Given the description of an element on the screen output the (x, y) to click on. 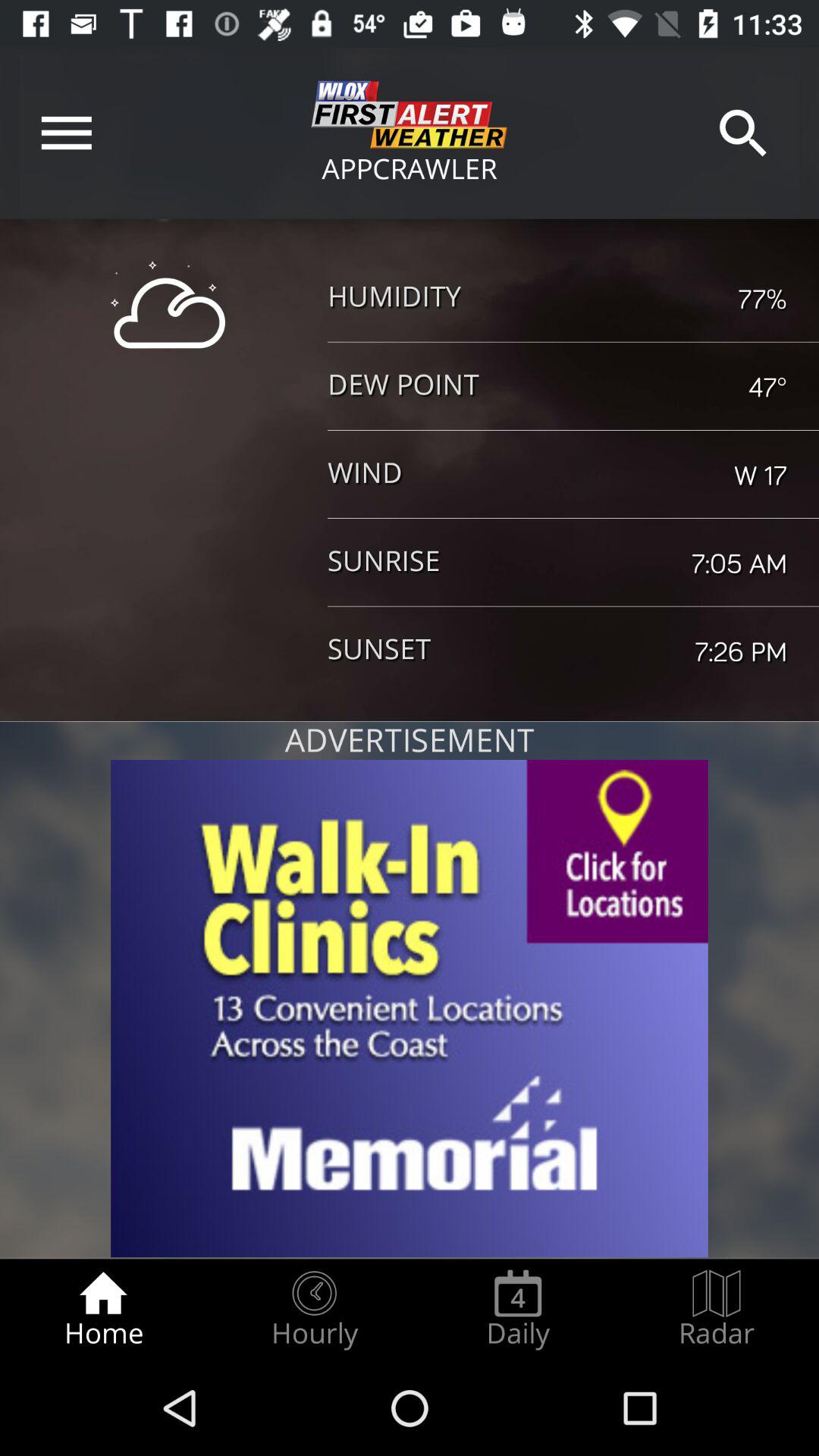
click radio button next to the hourly radio button (518, 1309)
